Given the description of an element on the screen output the (x, y) to click on. 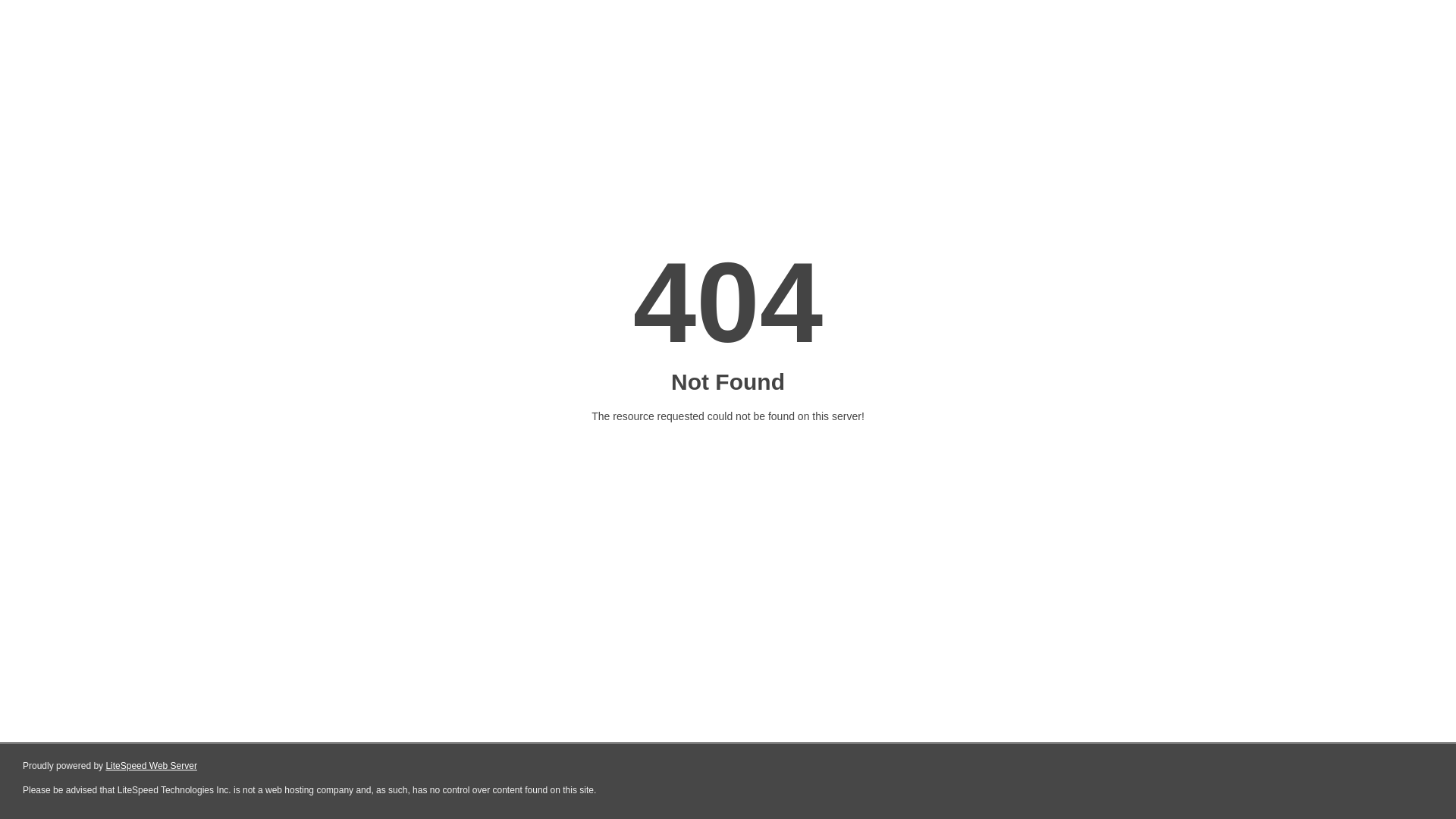
LiteSpeed Web Server Element type: text (151, 765)
